Given the description of an element on the screen output the (x, y) to click on. 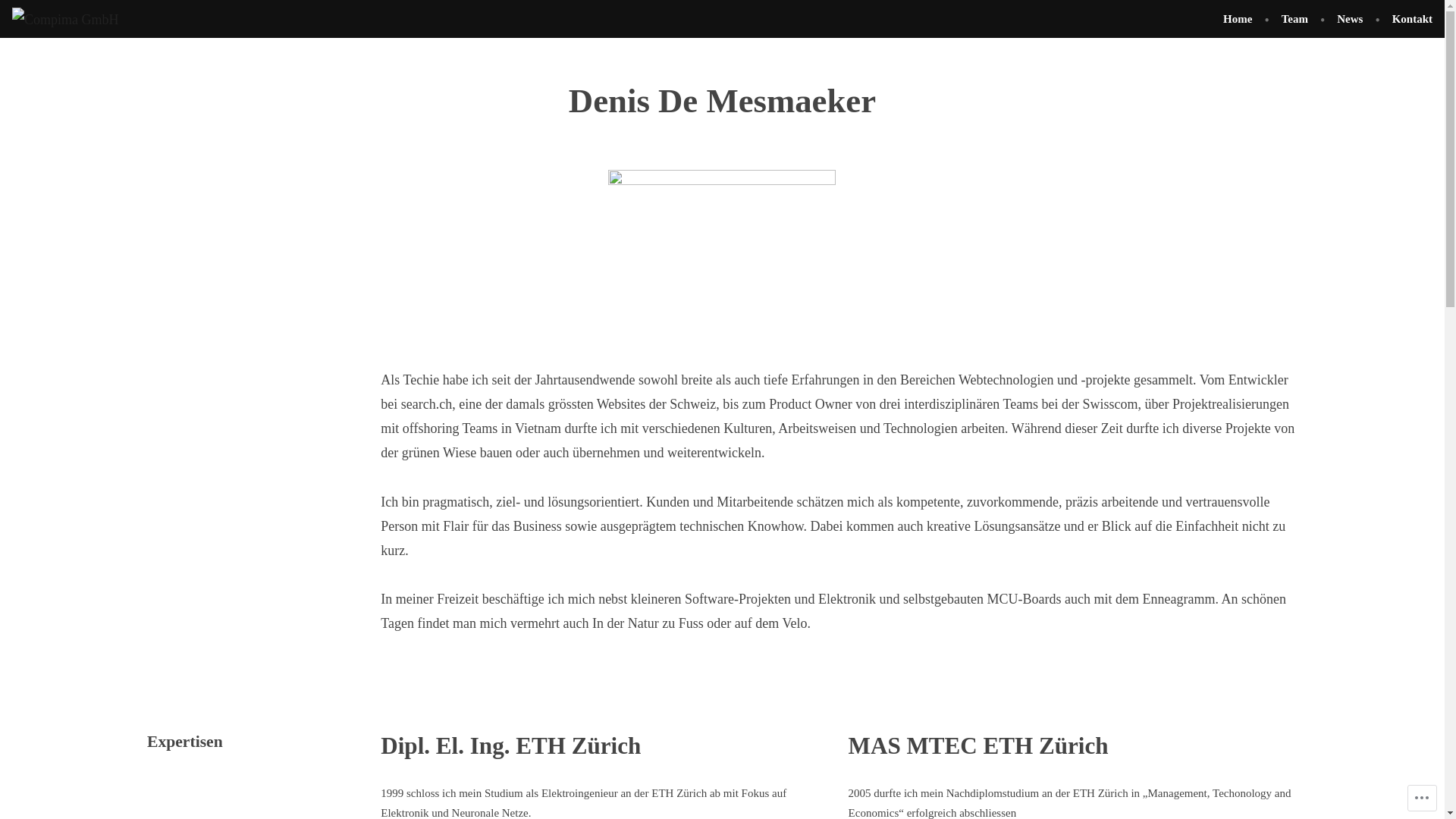
News Element type: text (1349, 20)
Kontakt Element type: text (1406, 20)
Team Element type: text (1294, 20)
Home Element type: text (1243, 20)
